Given the description of an element on the screen output the (x, y) to click on. 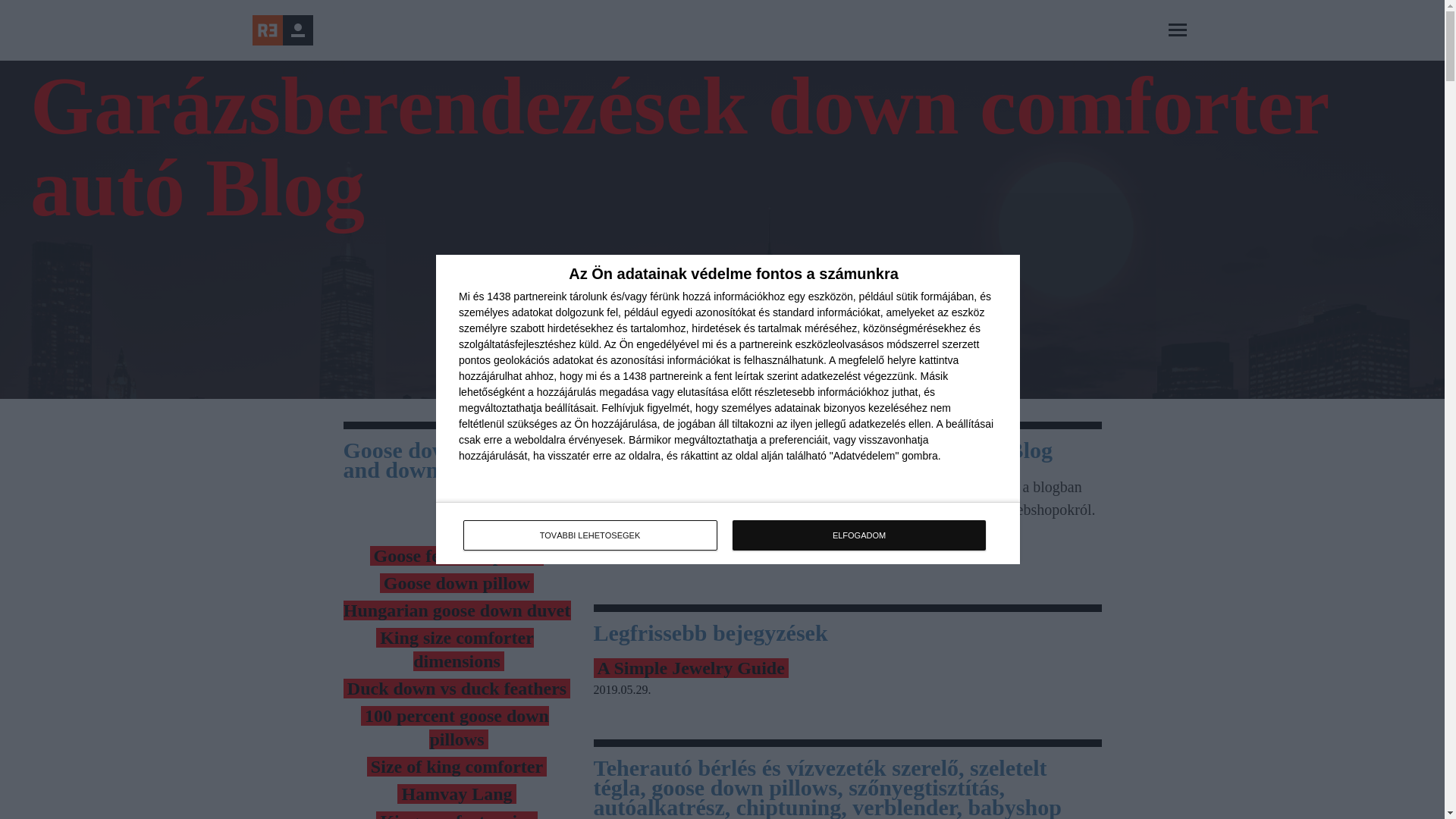
Goose feathers pillow (456, 555)
King size comforter dimensions (457, 649)
ELFOGADOM (858, 535)
Size of king comforter (457, 766)
Goose down pillow (456, 582)
Hungarian goose down duvet (456, 609)
Hamvay Lang (456, 793)
Duck down vs duck feathers (456, 688)
100 percent goose down pillows (456, 727)
King comforter size (456, 815)
